Given the description of an element on the screen output the (x, y) to click on. 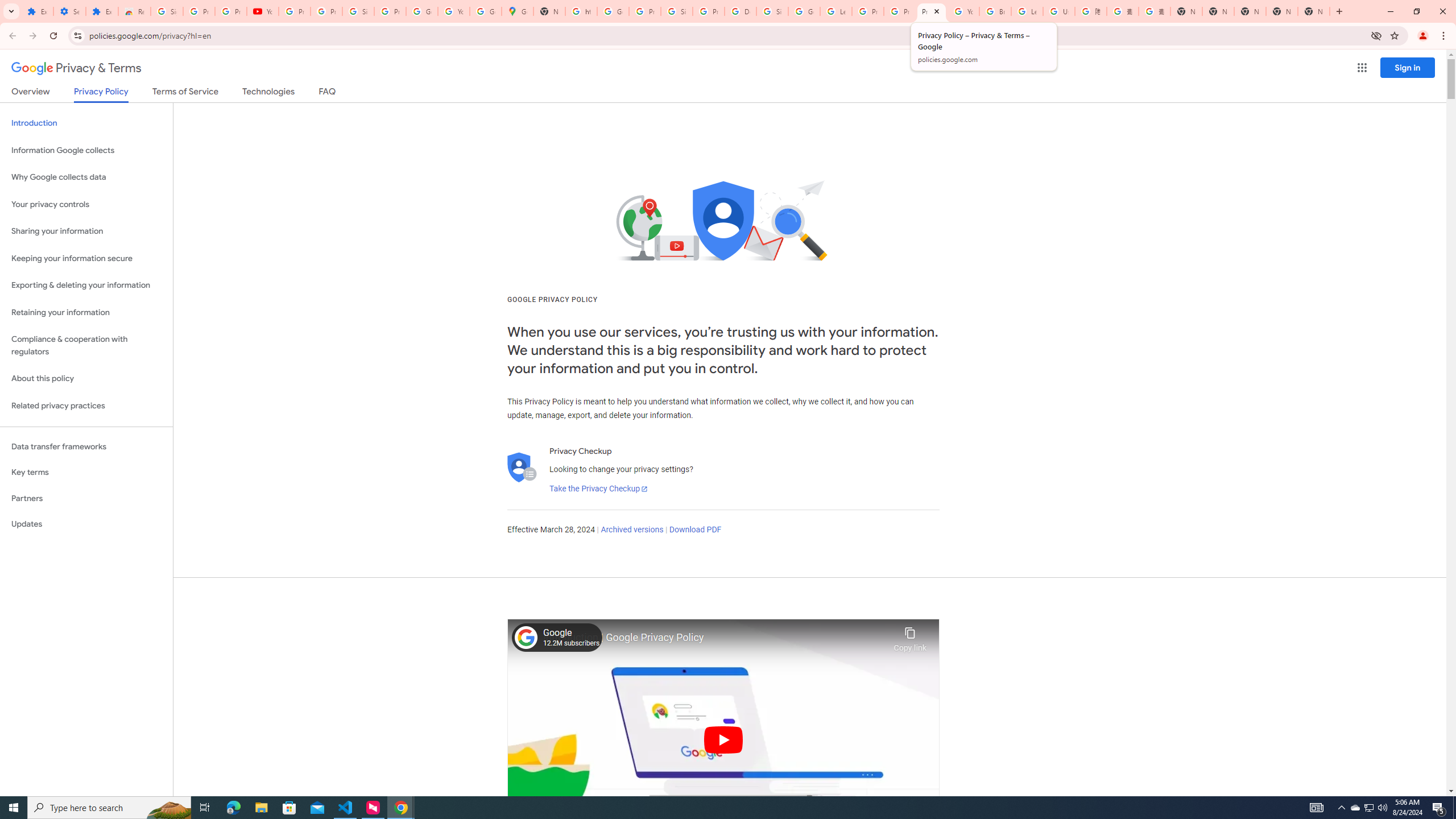
Compliance & cooperation with regulators (86, 345)
Sharing your information (86, 230)
Archived versions (631, 529)
Sign in - Google Accounts (676, 11)
YouTube (453, 11)
